Given the description of an element on the screen output the (x, y) to click on. 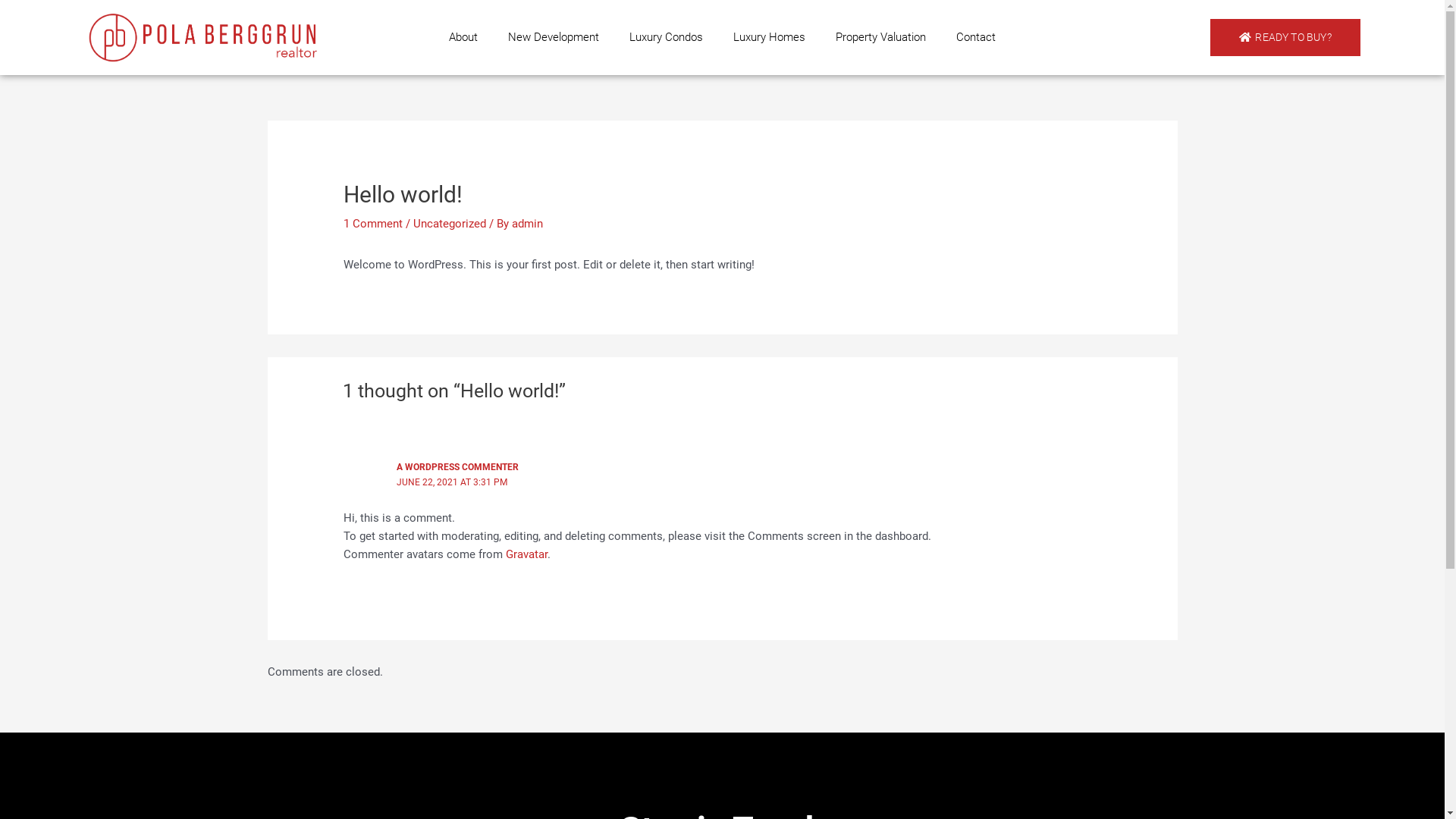
New Development Element type: text (553, 36)
1 Comment Element type: text (372, 223)
About Element type: text (462, 36)
Property Valuation Element type: text (880, 36)
A WORDPRESS COMMENTER Element type: text (457, 466)
Uncategorized Element type: text (449, 223)
JUNE 22, 2021 AT 3:31 PM Element type: text (451, 481)
Luxury Condos Element type: text (666, 36)
Luxury Homes Element type: text (769, 36)
READY TO BUY? Element type: text (1285, 37)
Gravatar Element type: text (526, 554)
admin Element type: text (526, 223)
Contact Element type: text (975, 36)
